Given the description of an element on the screen output the (x, y) to click on. 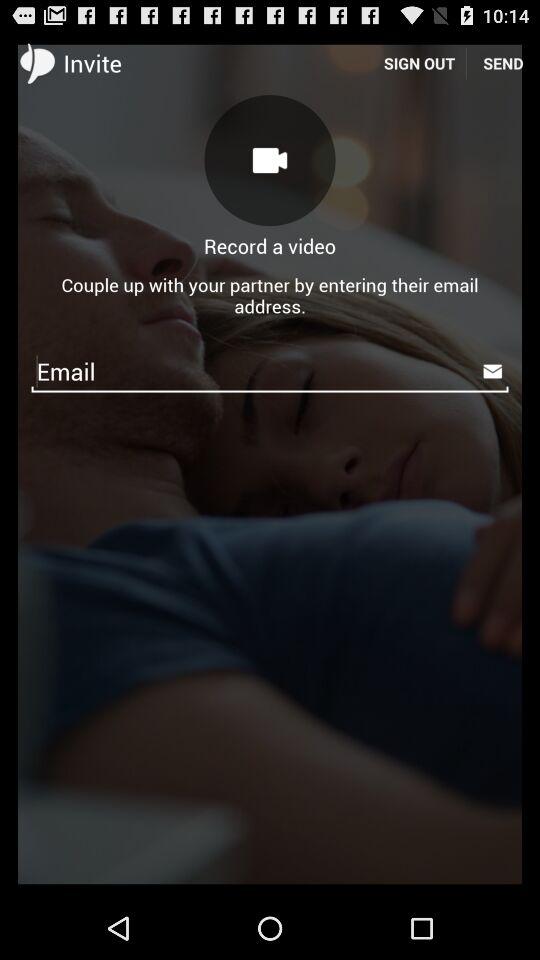
choose item next to send (419, 62)
